Given the description of an element on the screen output the (x, y) to click on. 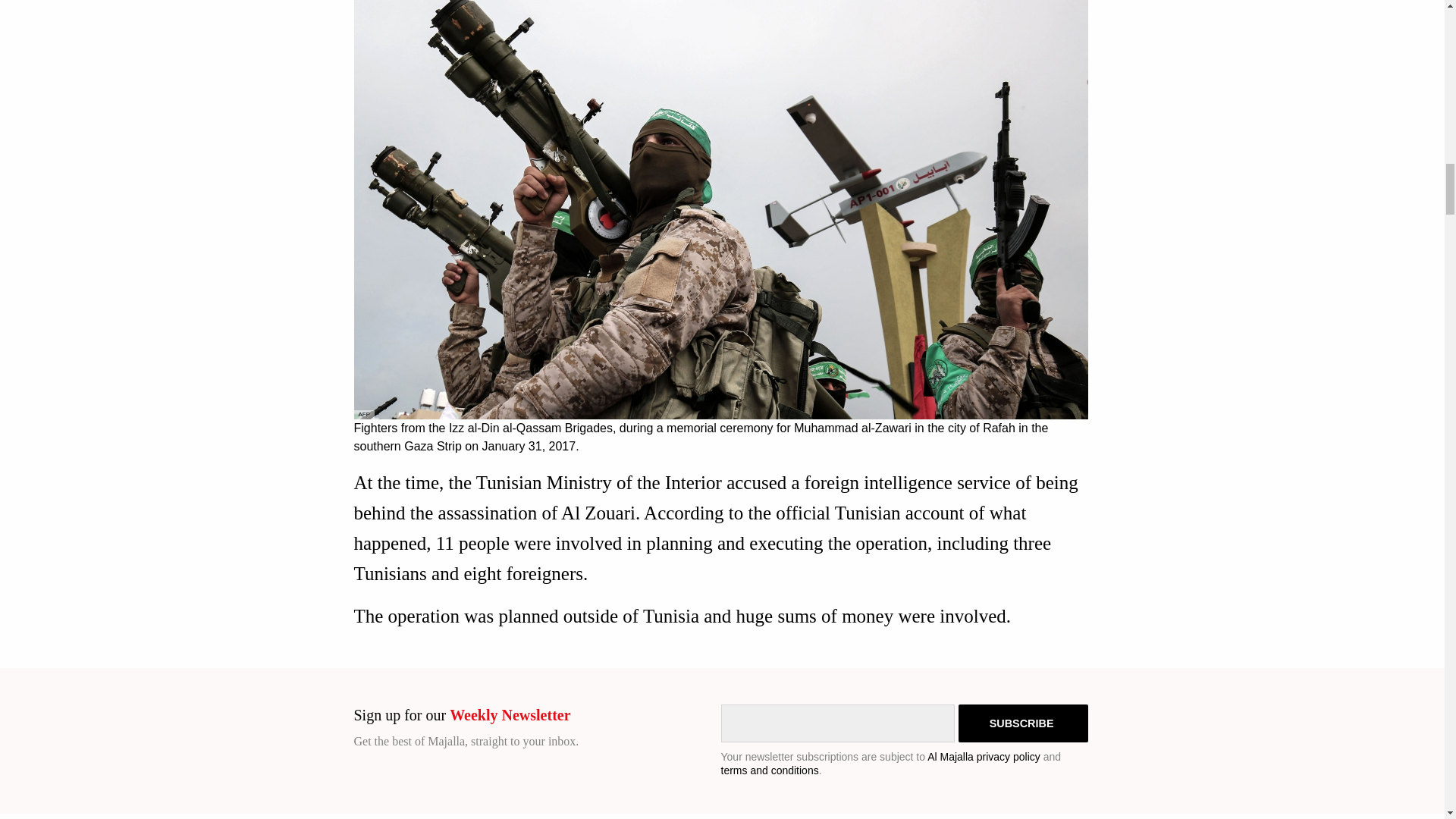
SUBSCRIBE  (1022, 723)
